Given the description of an element on the screen output the (x, y) to click on. 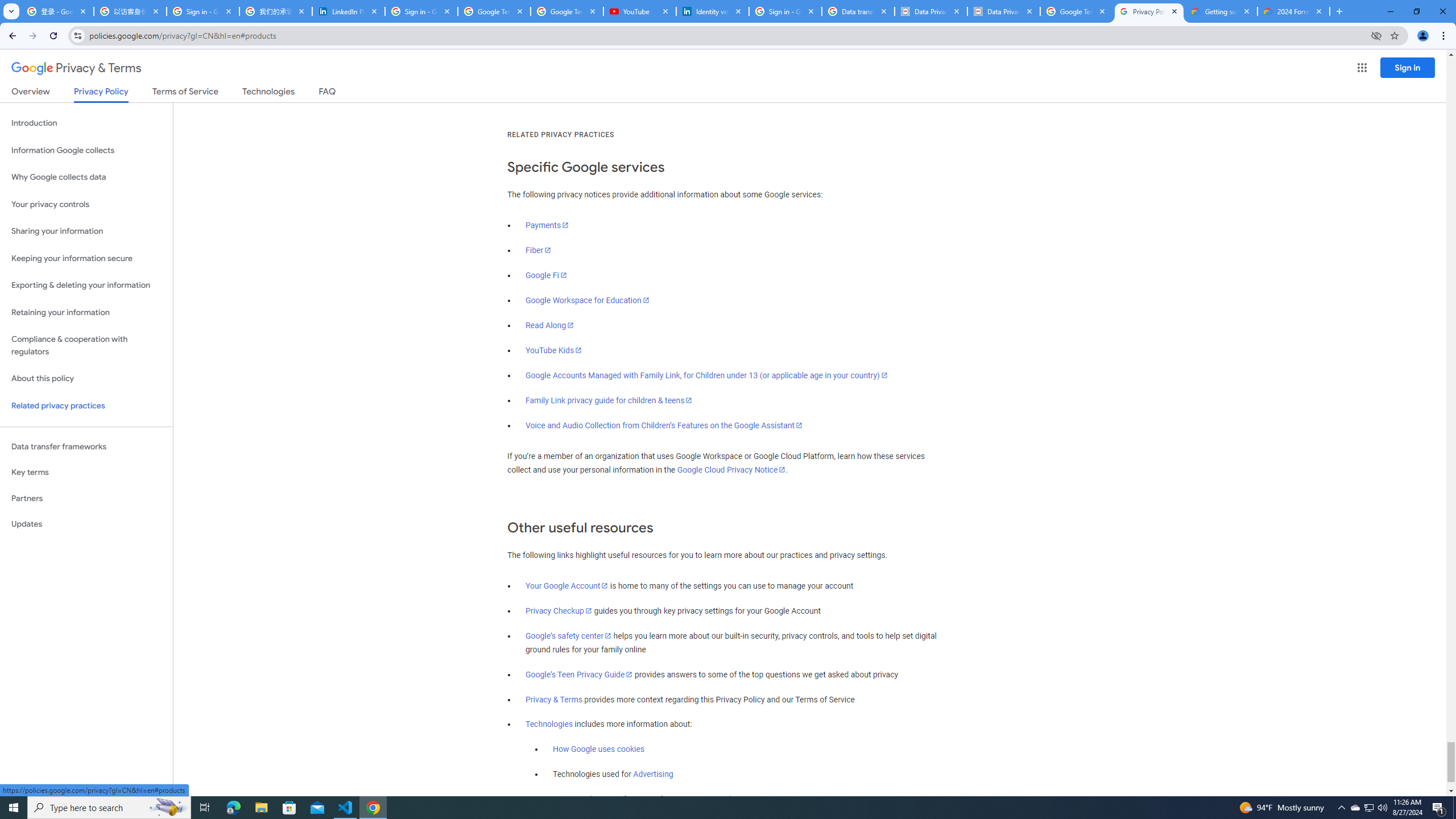
Sharing your information (86, 230)
Google Cloud Privacy Notice (731, 469)
Family Link privacy guide for children & teens (609, 400)
Read Along (550, 325)
Sign in - Google Accounts (785, 11)
Data Privacy Framework (930, 11)
Identity verification via Persona | LinkedIn Help (712, 11)
Why Google collects data (86, 176)
